Given the description of an element on the screen output the (x, y) to click on. 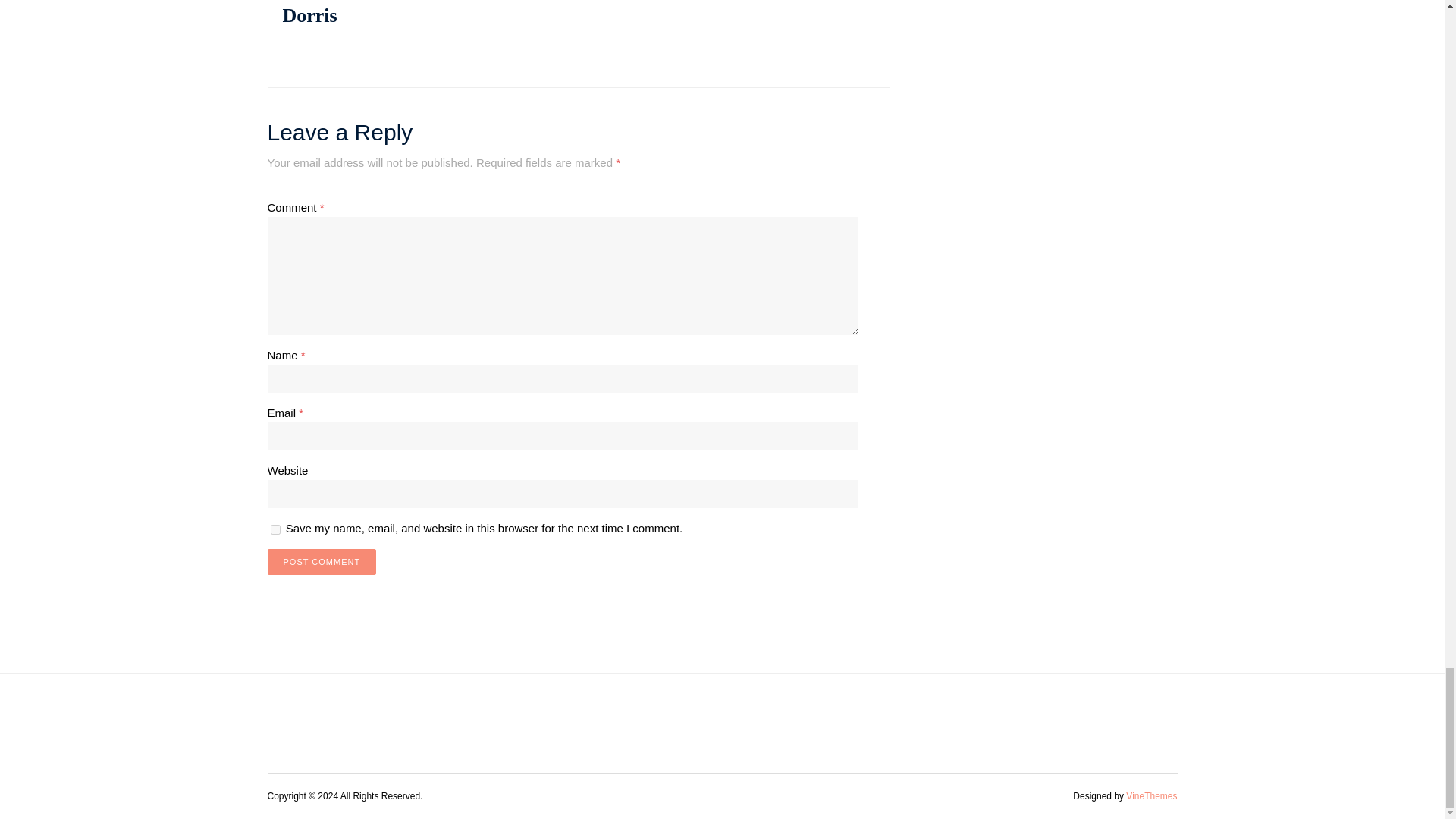
yes (274, 529)
Post Comment (320, 561)
Post Comment (320, 561)
VineThemes (1150, 796)
Dorris (309, 15)
